Given the description of an element on the screen output the (x, y) to click on. 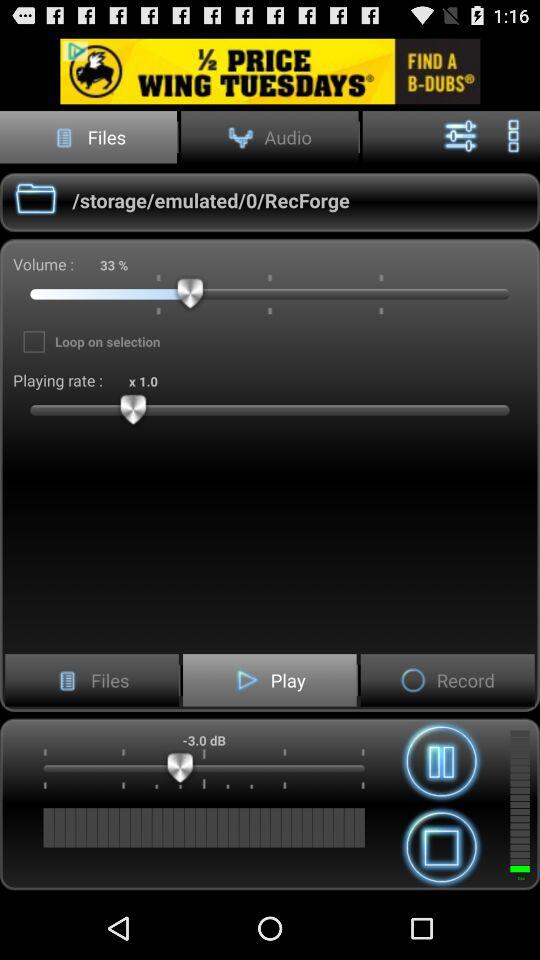
view advertisements (270, 70)
